Given the description of an element on the screen output the (x, y) to click on. 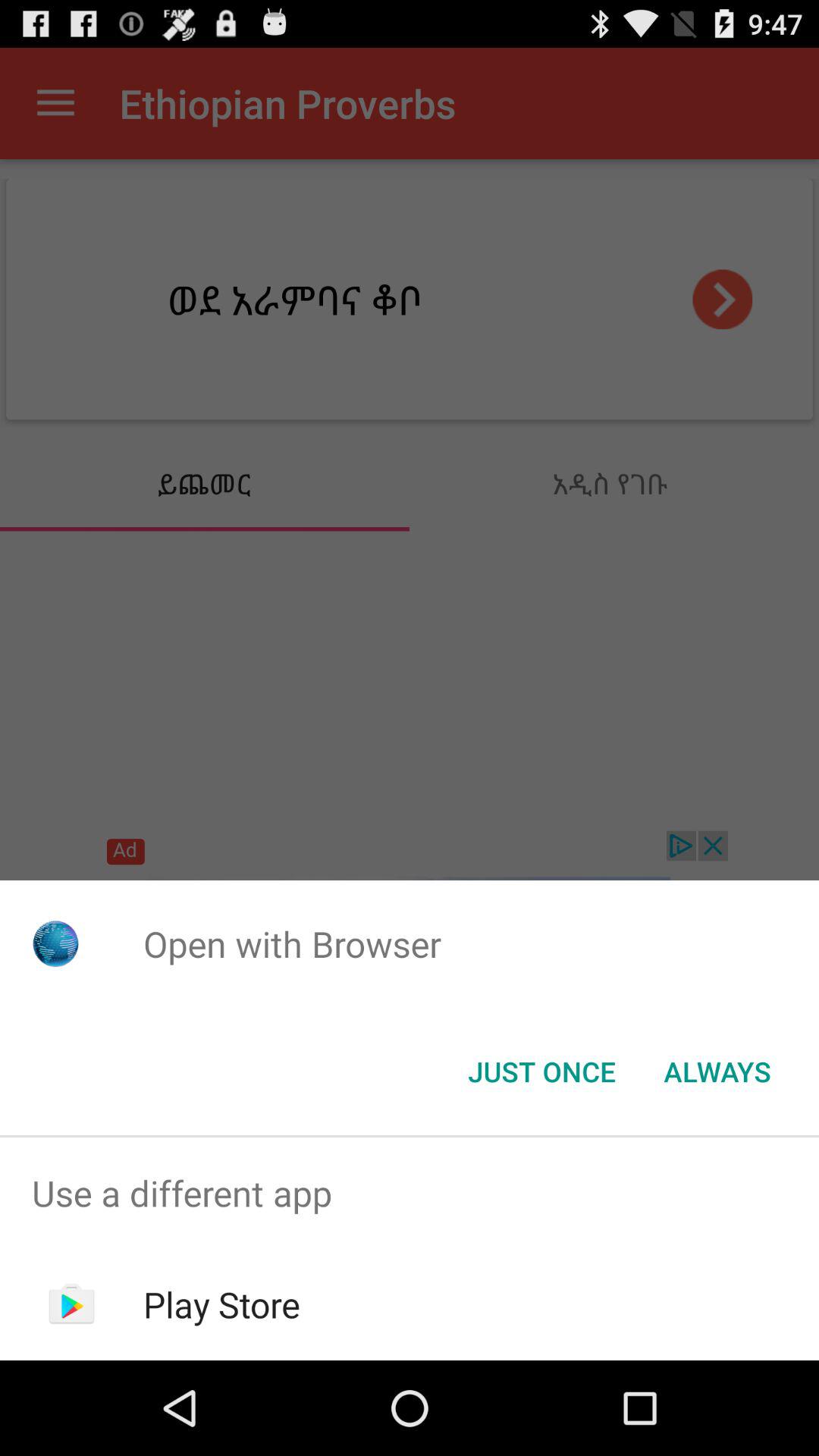
turn on item above play store app (409, 1192)
